Given the description of an element on the screen output the (x, y) to click on. 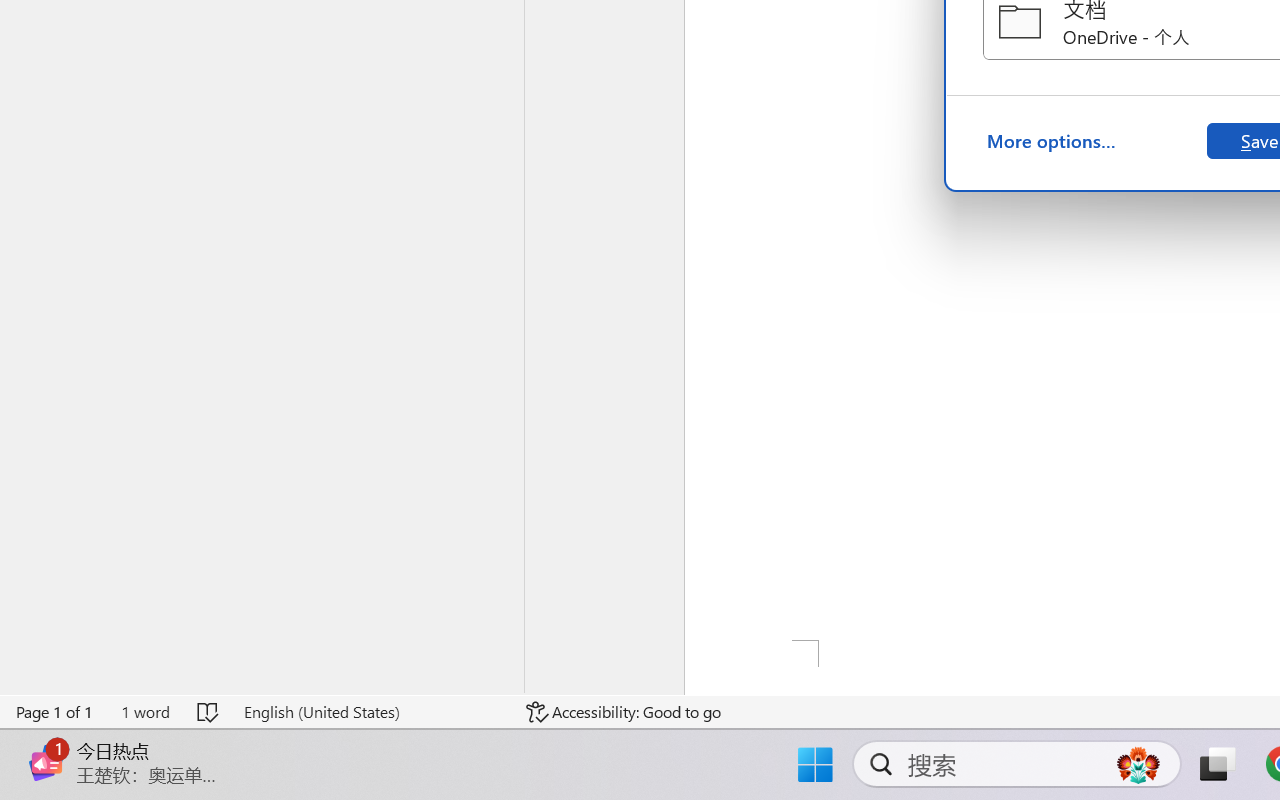
AutomationID: DynamicSearchBoxGleamImage (1138, 764)
Language English (United States) (370, 712)
Spelling and Grammar Check No Errors (208, 712)
AutomationID: BadgeAnchorLargeTicker (46, 743)
Class: Image (46, 762)
Word Count 1 word (145, 712)
Page Number Page 1 of 1 (55, 712)
Accessibility Checker Accessibility: Good to go (623, 712)
